Given the description of an element on the screen output the (x, y) to click on. 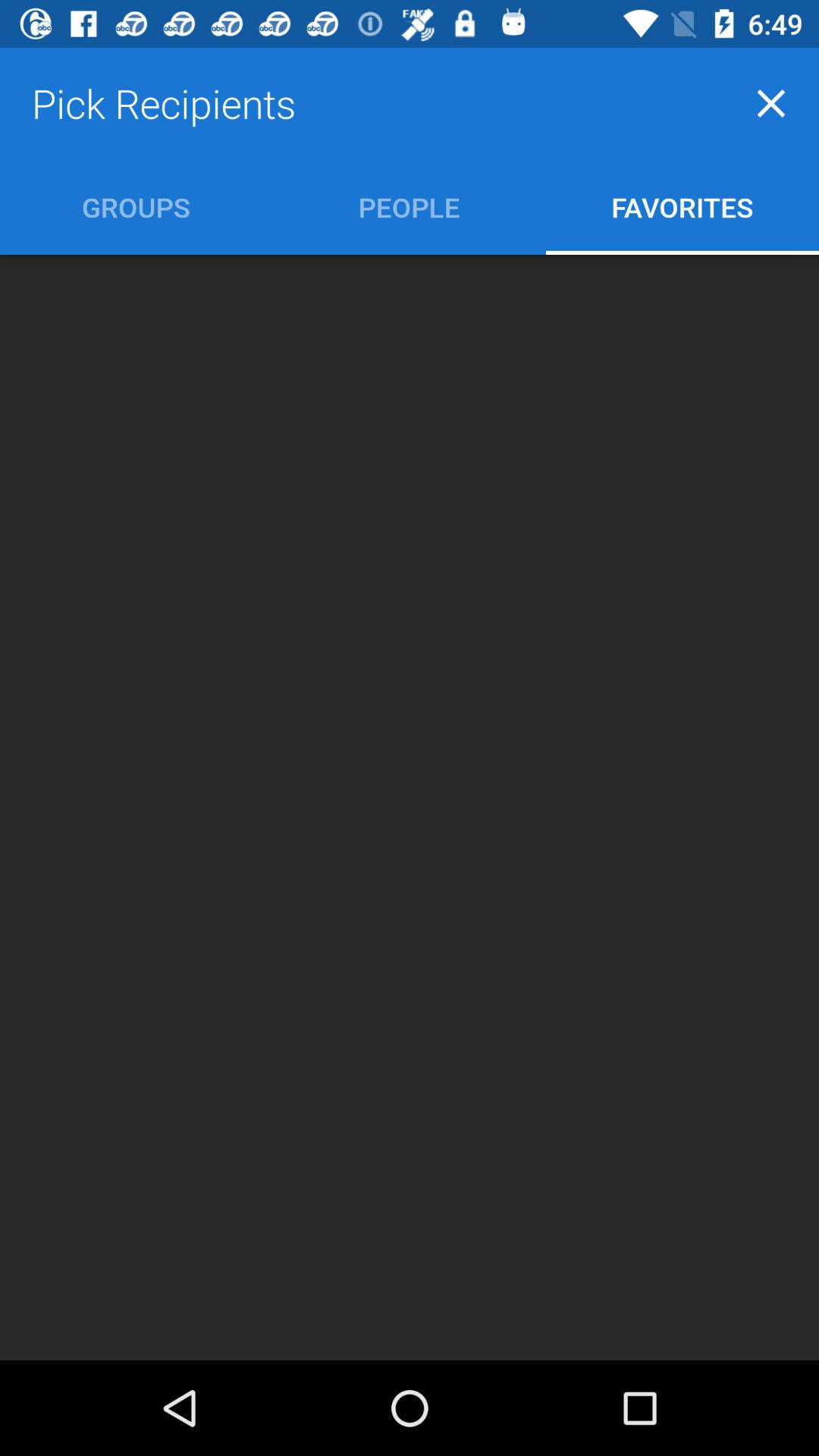
flip to the people icon (409, 206)
